Given the description of an element on the screen output the (x, y) to click on. 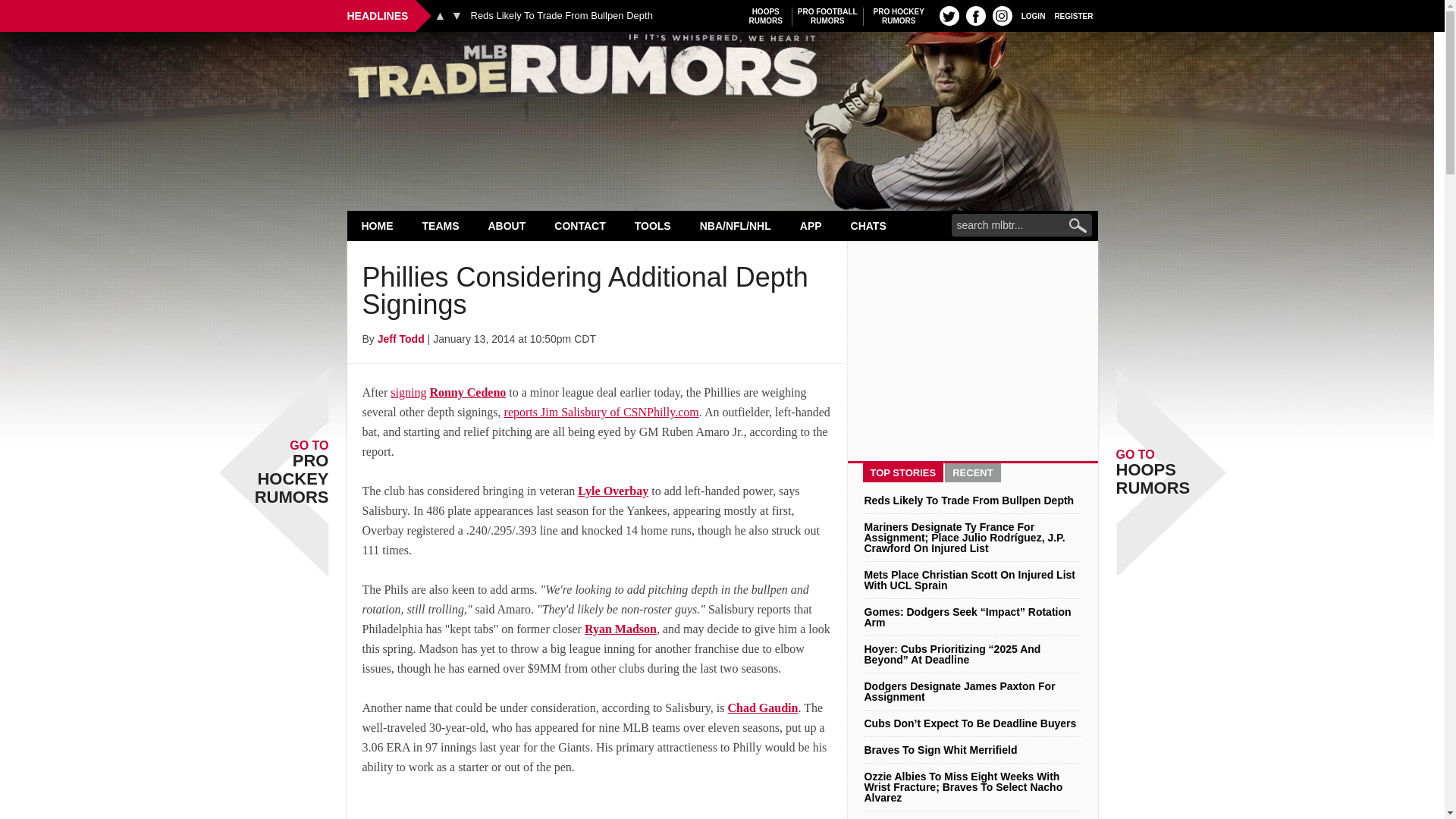
LOGIN (1032, 15)
Instagram profile (827, 16)
HOME (1001, 15)
Next (377, 225)
FB profile (456, 15)
MLB Trade Rumors (975, 15)
REGISTER (722, 69)
Twitter profile (1073, 15)
Previous (949, 15)
Search (439, 15)
Reds Likely To Trade From Bullpen Depth (898, 16)
